Given the description of an element on the screen output the (x, y) to click on. 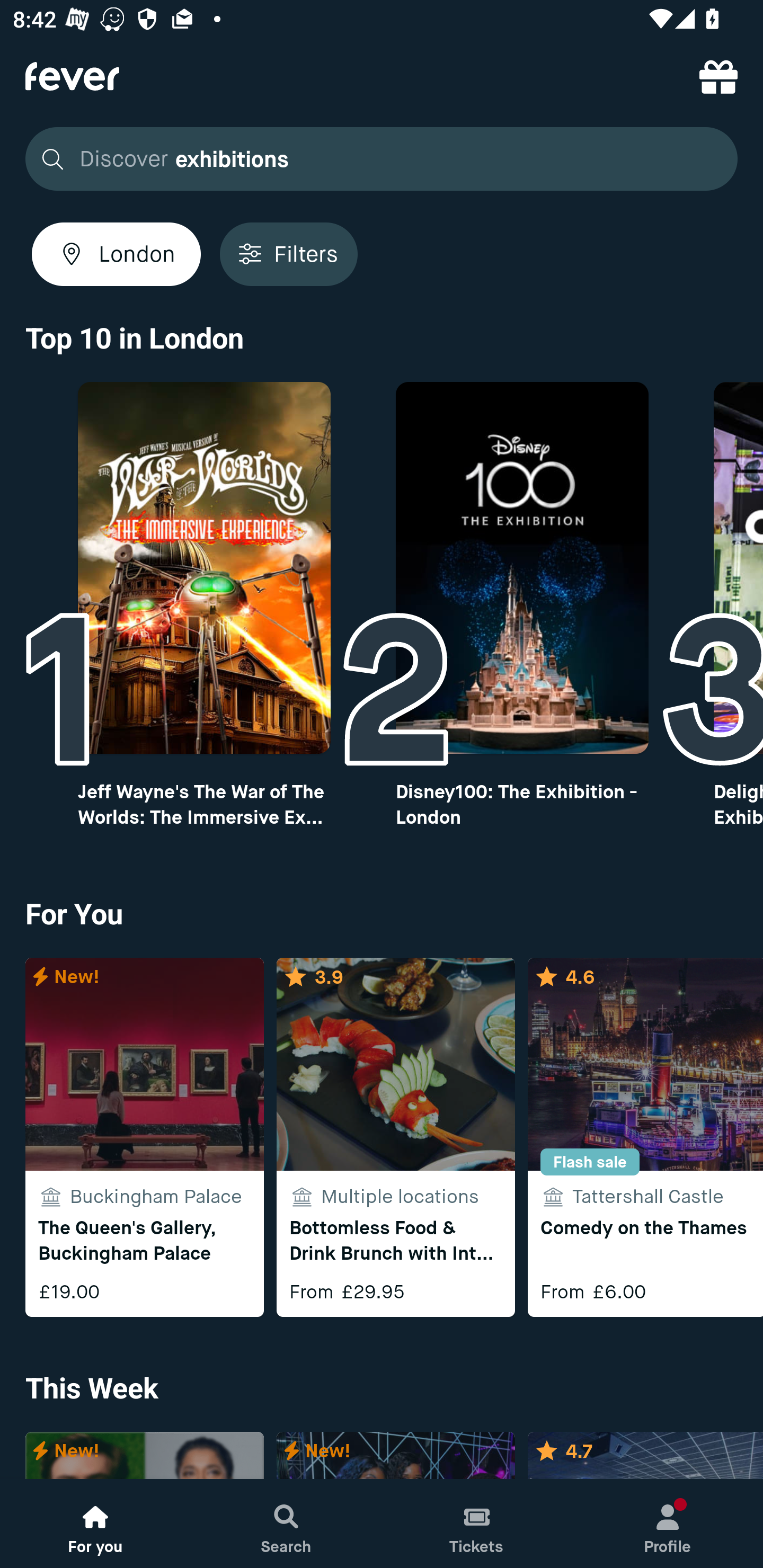
referral (718, 75)
Discover exhibitions (381, 158)
Discover exhibitions (376, 158)
London (116, 253)
Filters (288, 253)
Top10 image (203, 568)
Top10 image (521, 568)
Search (285, 1523)
Tickets (476, 1523)
Profile, New notification Profile (667, 1523)
